Given the description of an element on the screen output the (x, y) to click on. 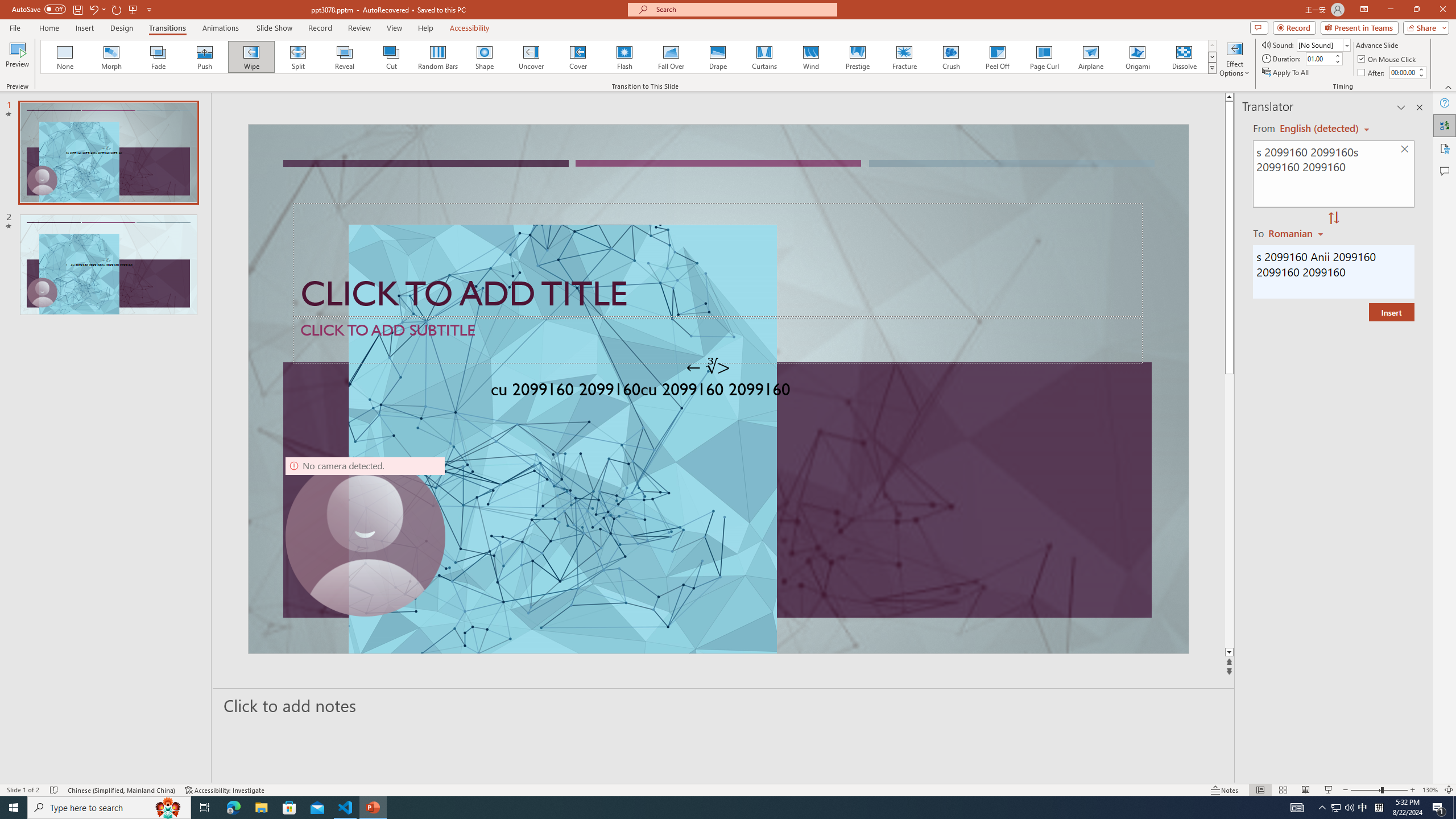
Airplane (1090, 56)
Fracture (903, 56)
Uncover (531, 56)
